Given the description of an element on the screen output the (x, y) to click on. 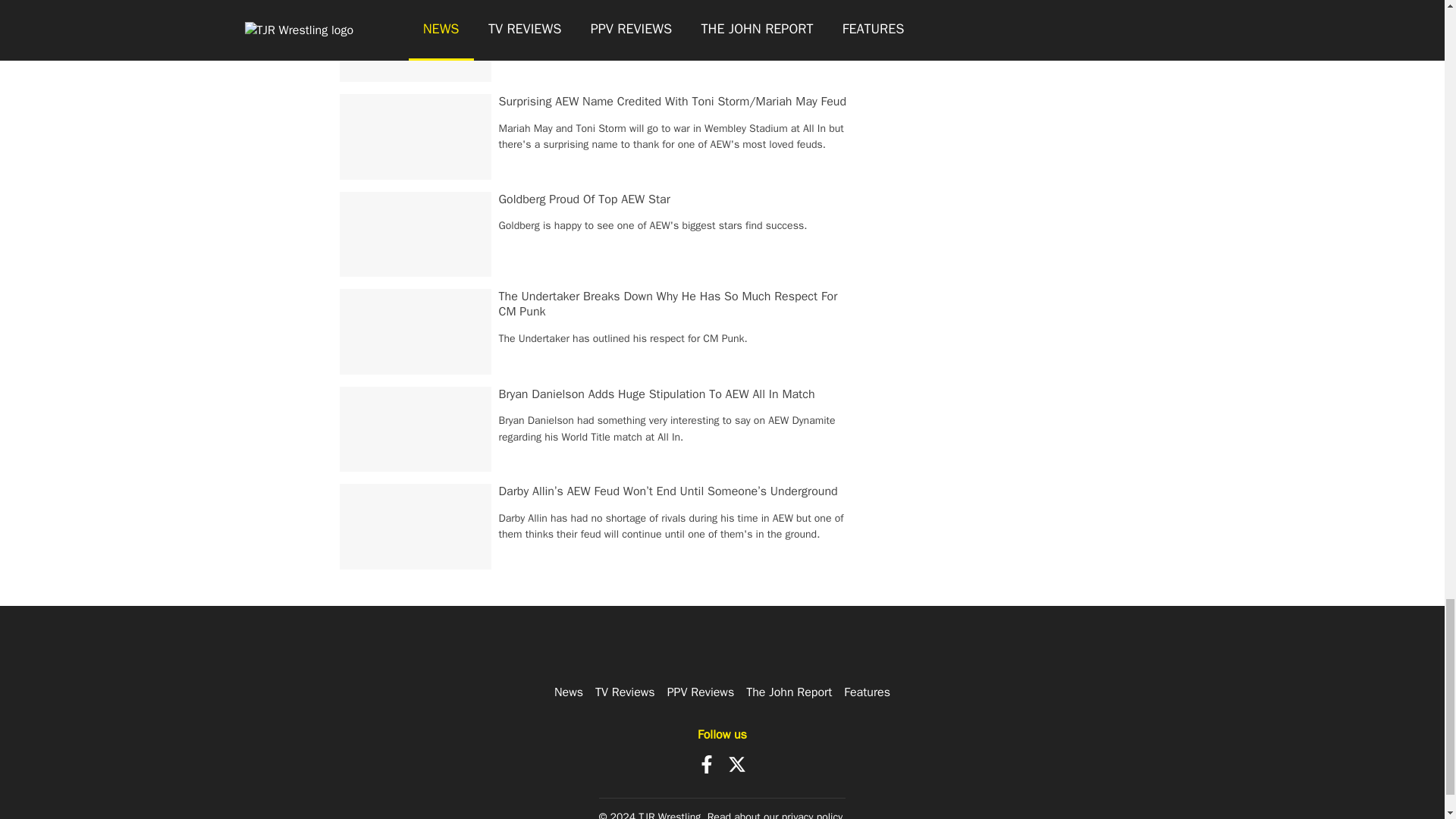
Facebook (706, 764)
X (736, 764)
Goldberg Proud Of Top AEW Star (584, 199)
Bryan Danielson Adds Huge Stipulation To AEW All In Match (657, 394)
